Given the description of an element on the screen output the (x, y) to click on. 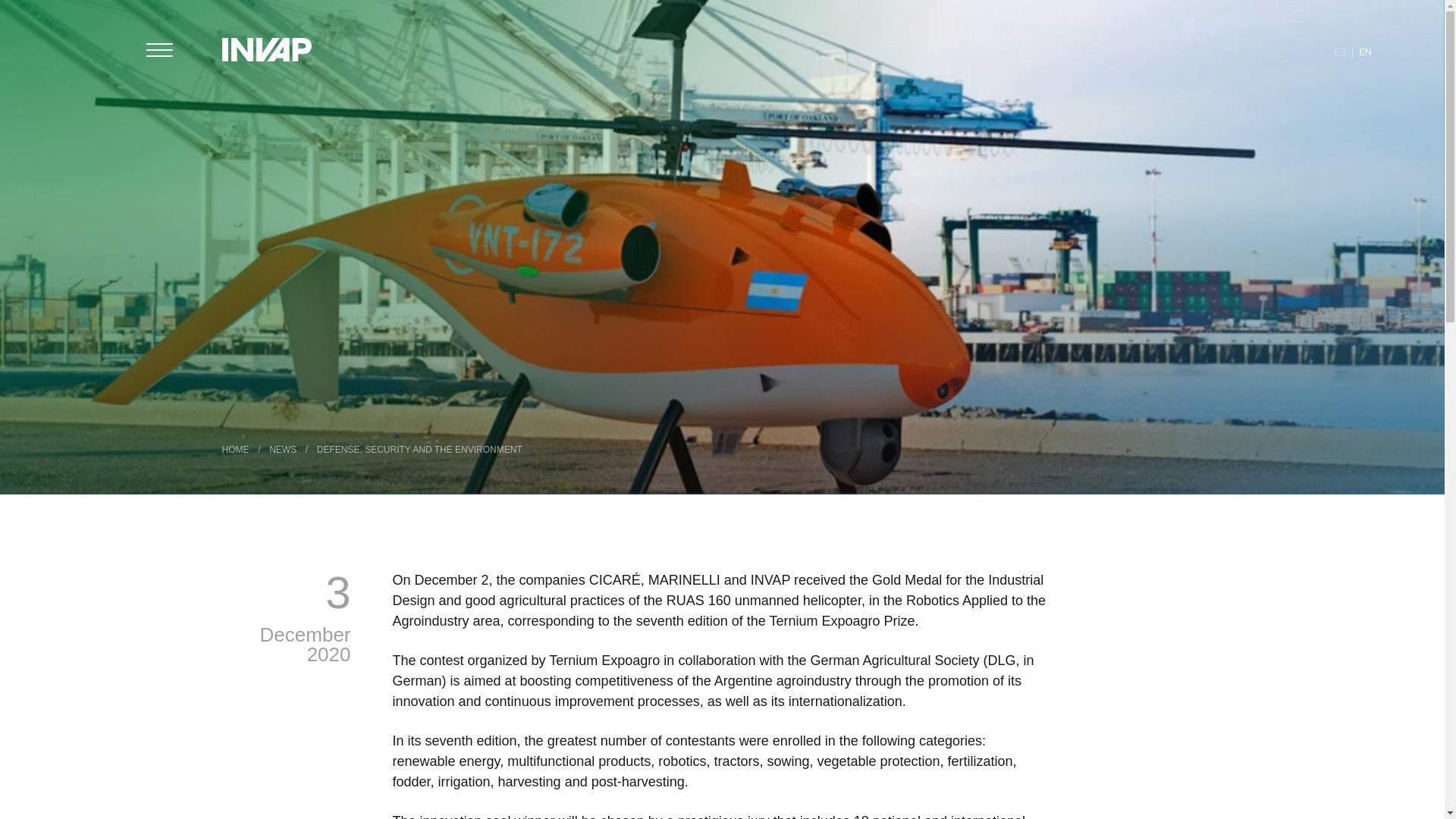
Go to the News category archives. (285, 449)
EN (1364, 51)
DEFENSE, SECURITY AND THE ENVIRONMENT (422, 449)
ES (1339, 51)
NEWS (285, 449)
HOME (237, 449)
